Given the description of an element on the screen output the (x, y) to click on. 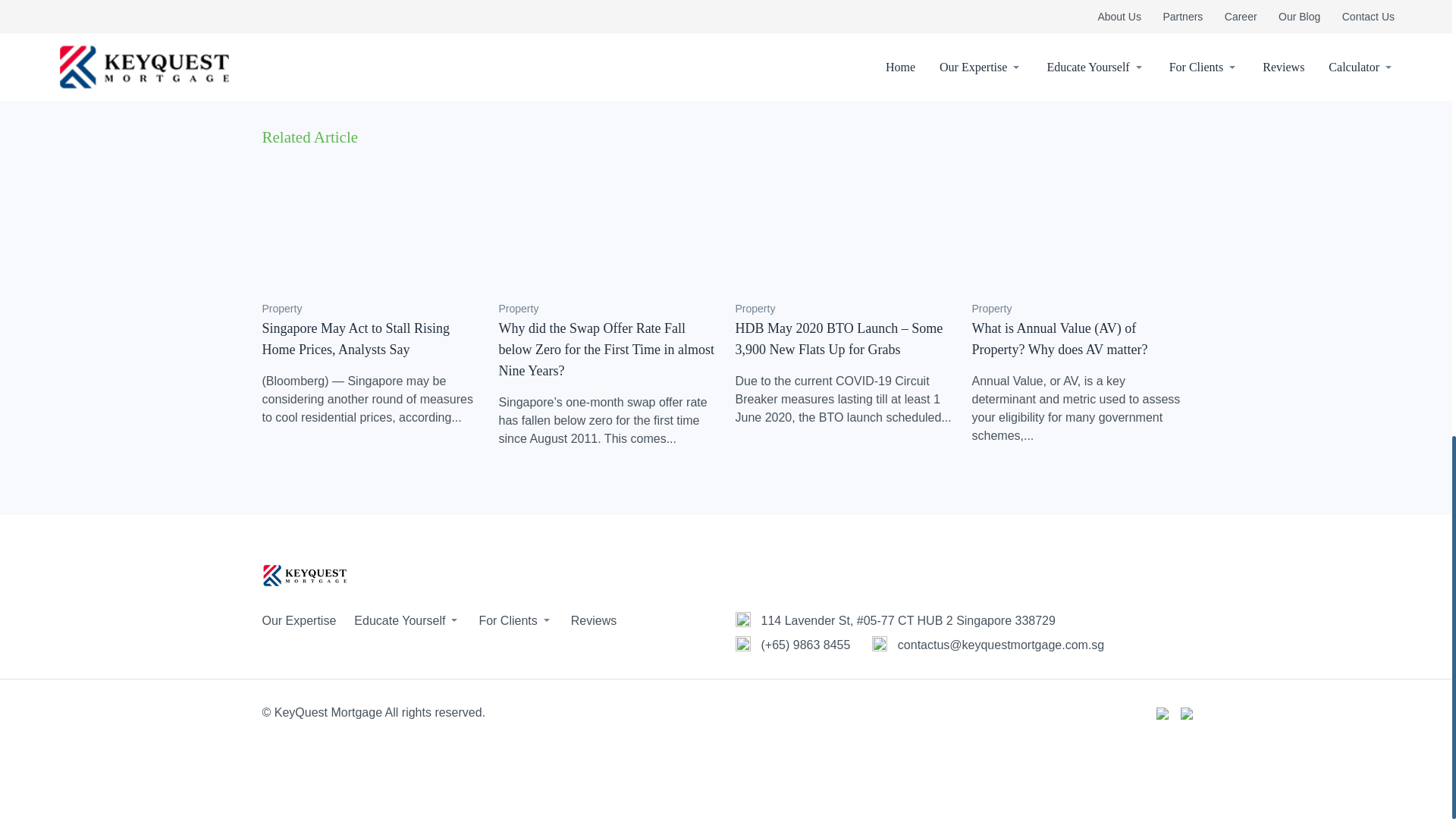
Property (518, 307)
Property (282, 307)
Singapore May Act to Stall Rising Home Prices, Analysts Say (355, 338)
